Given the description of an element on the screen output the (x, y) to click on. 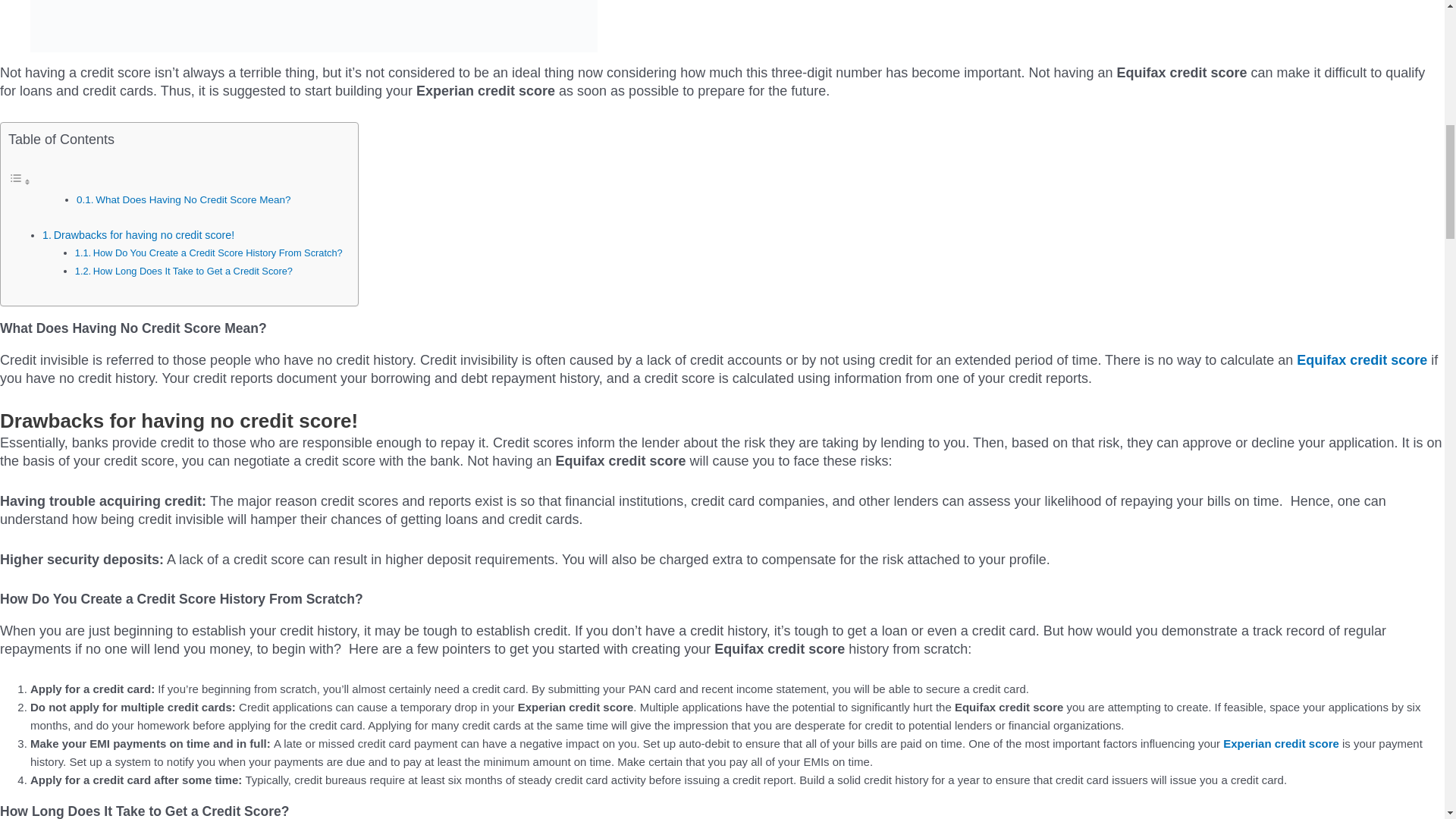
Drawbacks for having no credit score!  (145, 234)
Experian credit score (1281, 743)
How Do You Create a Credit Score History From Scratch? (217, 252)
What Does Having No Credit Score Mean? (192, 199)
How Long Does It Take to Get a Credit Score? (192, 270)
Equifax credit score (1361, 359)
What Does Having No Credit Score Mean? (192, 199)
